Given the description of an element on the screen output the (x, y) to click on. 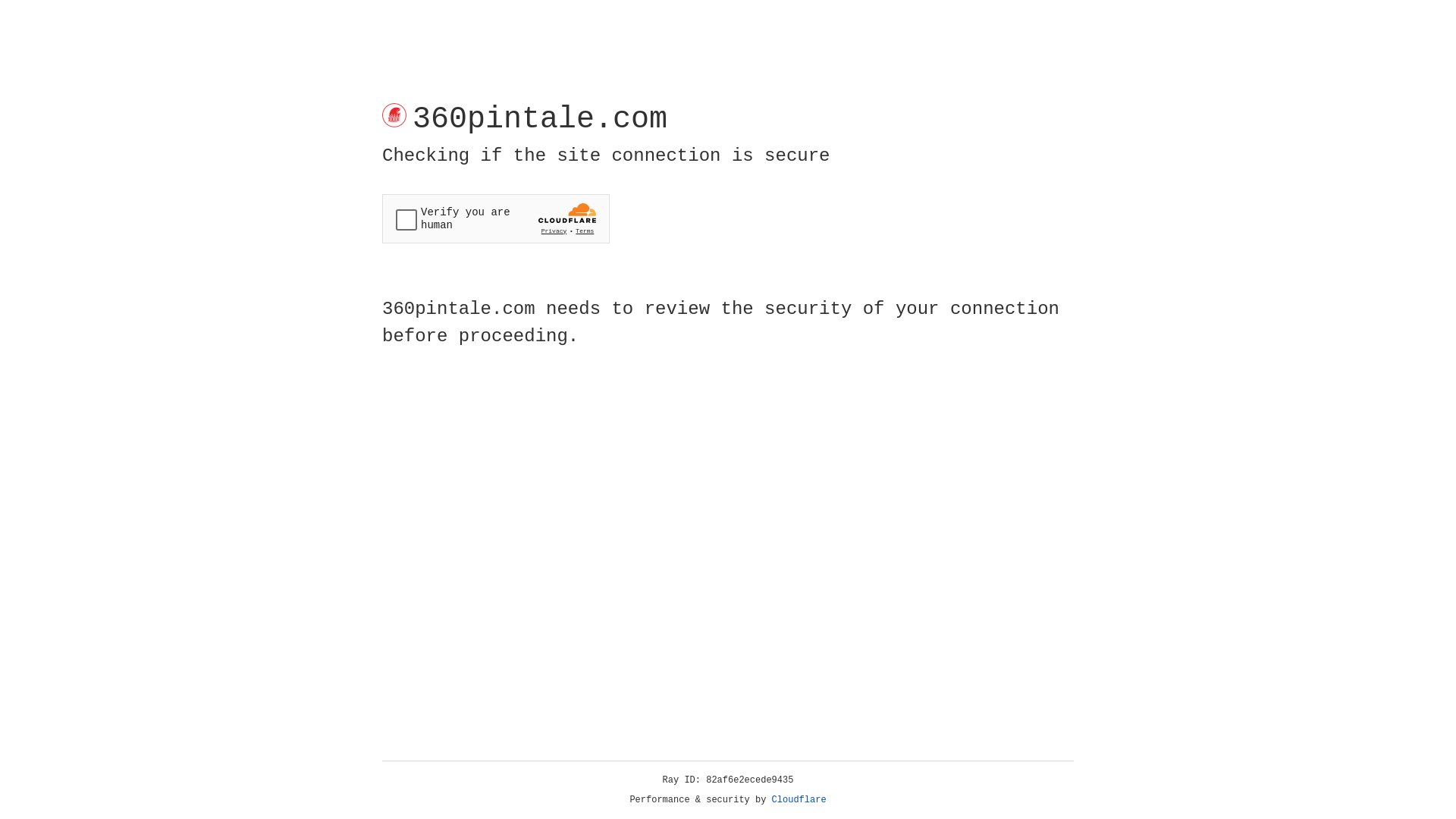
Widget containing a Cloudflare security challenge Element type: hover (495, 218)
Cloudflare Element type: text (798, 799)
